Given the description of an element on the screen output the (x, y) to click on. 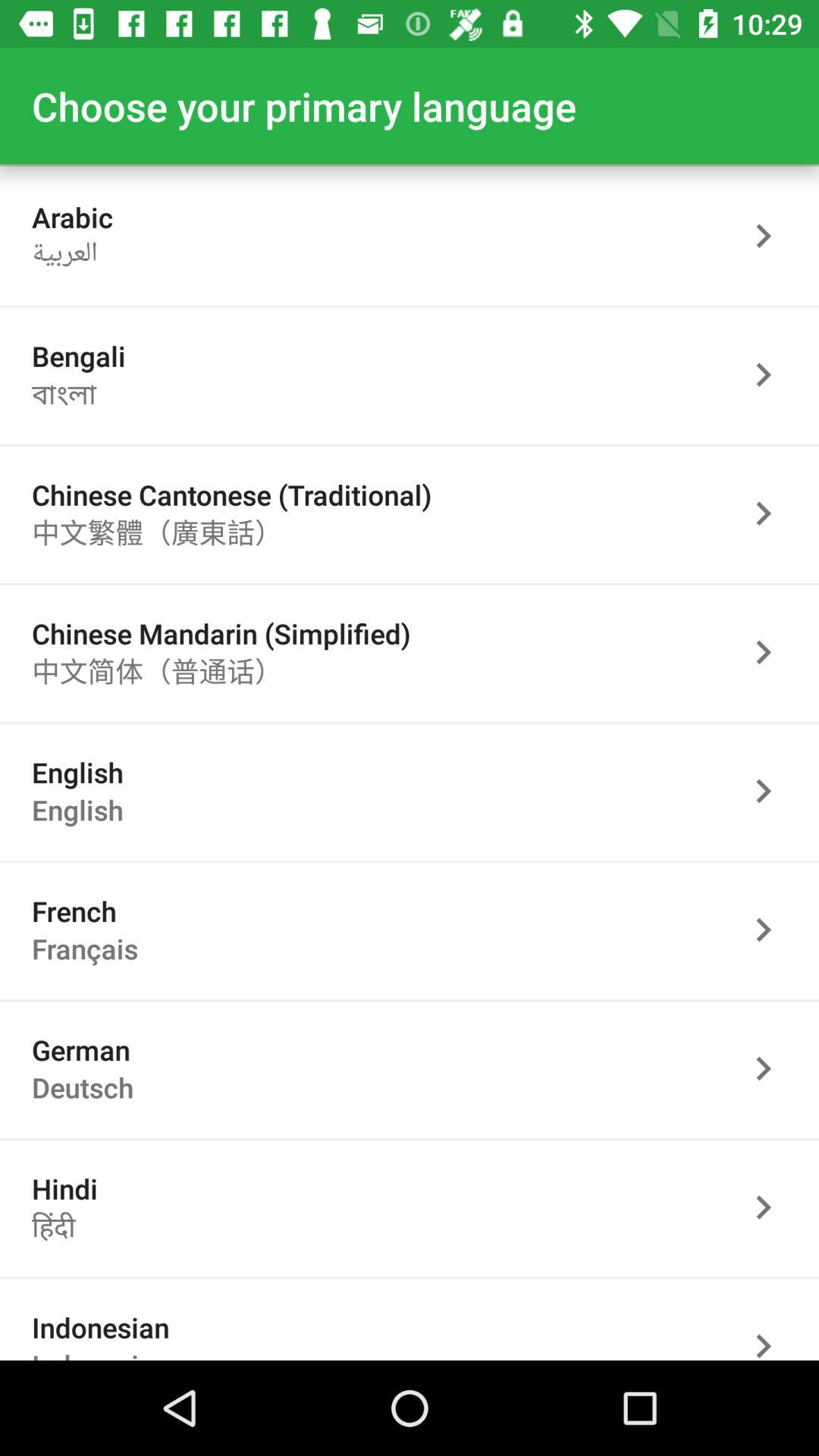
go next page (771, 1068)
